Given the description of an element on the screen output the (x, y) to click on. 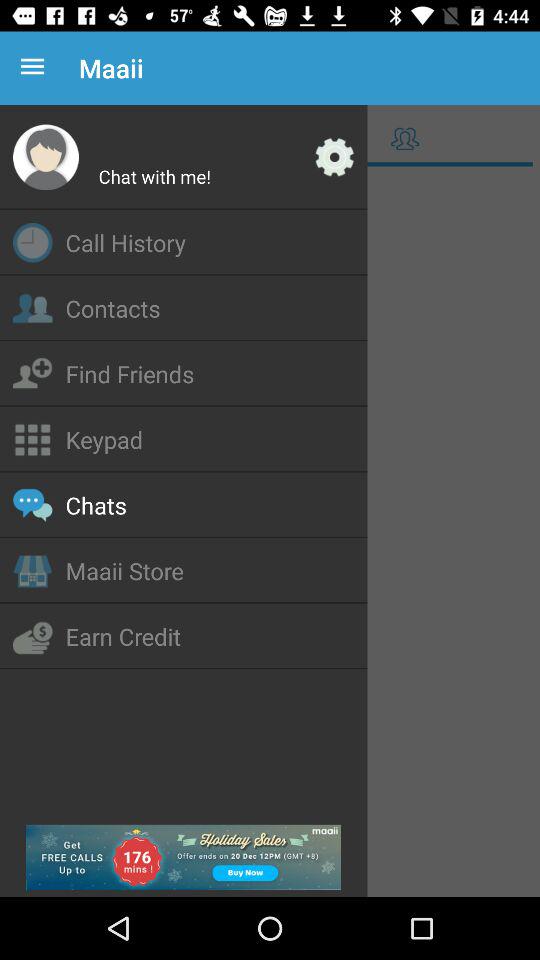
highlight the whole page (270, 533)
